Given the description of an element on the screen output the (x, y) to click on. 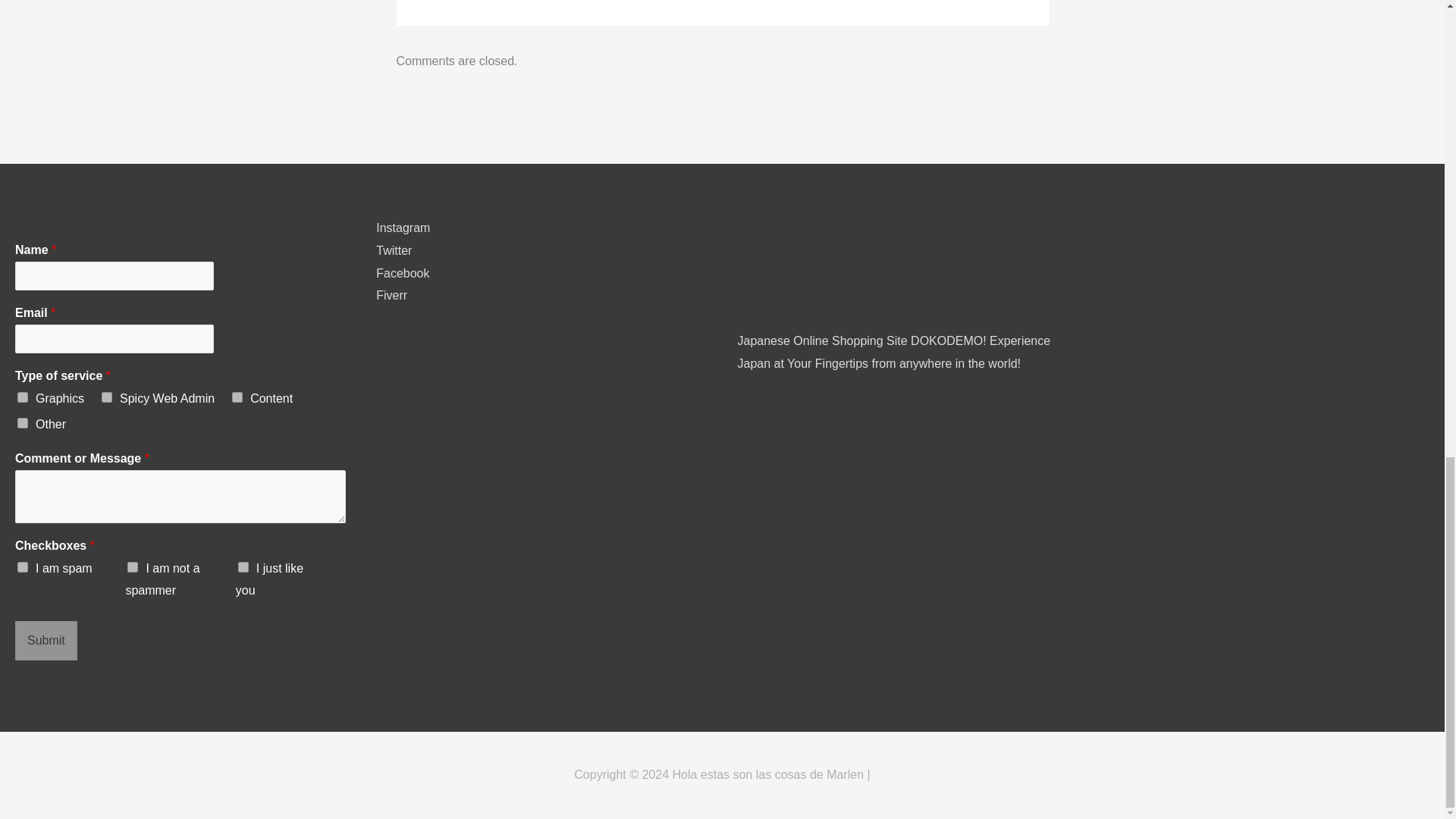
Submit (45, 640)
Content (237, 397)
I am spam (22, 566)
Fiverr (391, 295)
I just like you (243, 566)
Other (22, 422)
Graphics (22, 397)
Facebook (402, 273)
I am not a spammer (133, 566)
